Given the description of an element on the screen output the (x, y) to click on. 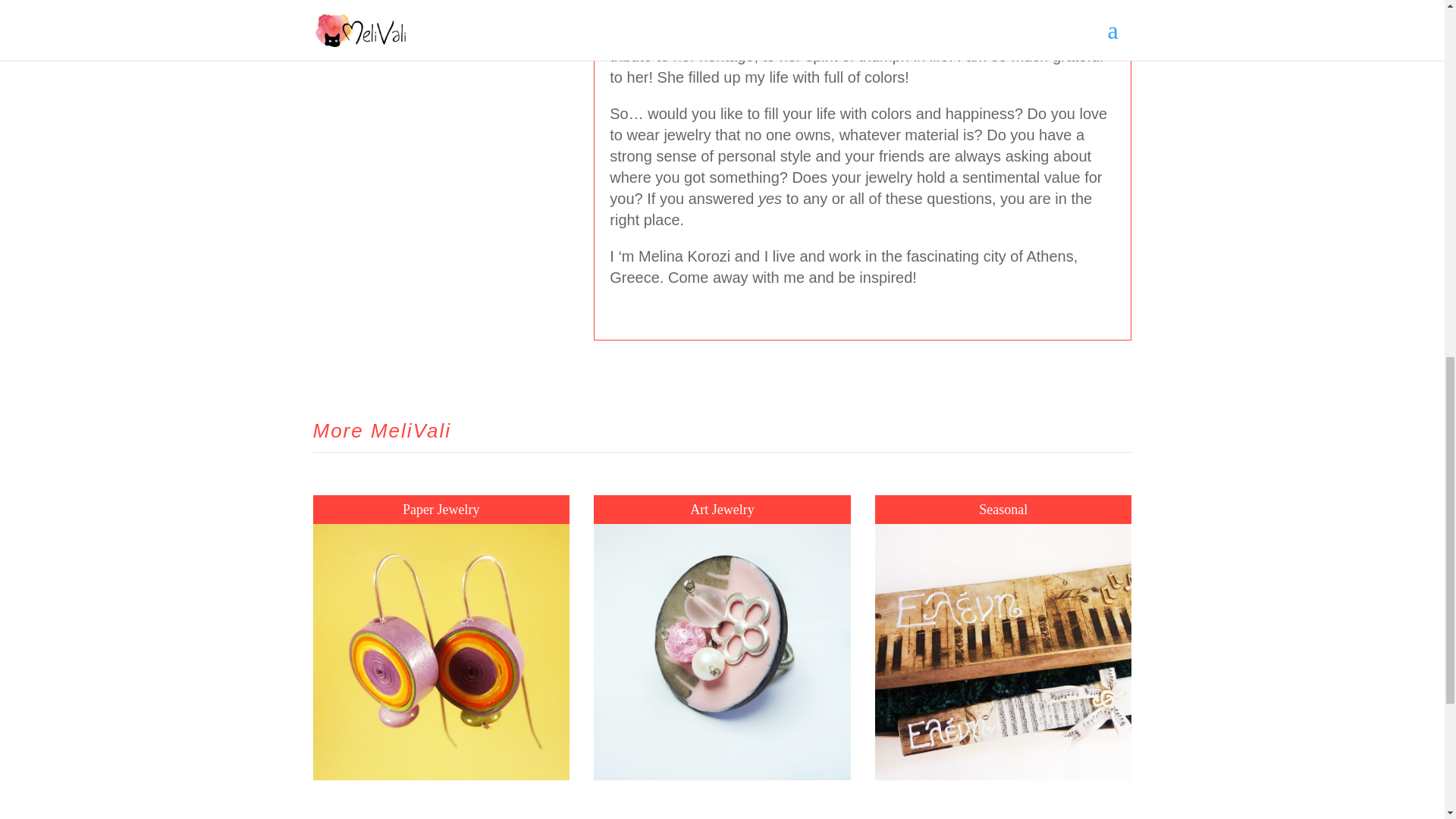
Paper Jewelry (441, 509)
Art Jewelry (722, 509)
Seasonal (1002, 509)
